Given the description of an element on the screen output the (x, y) to click on. 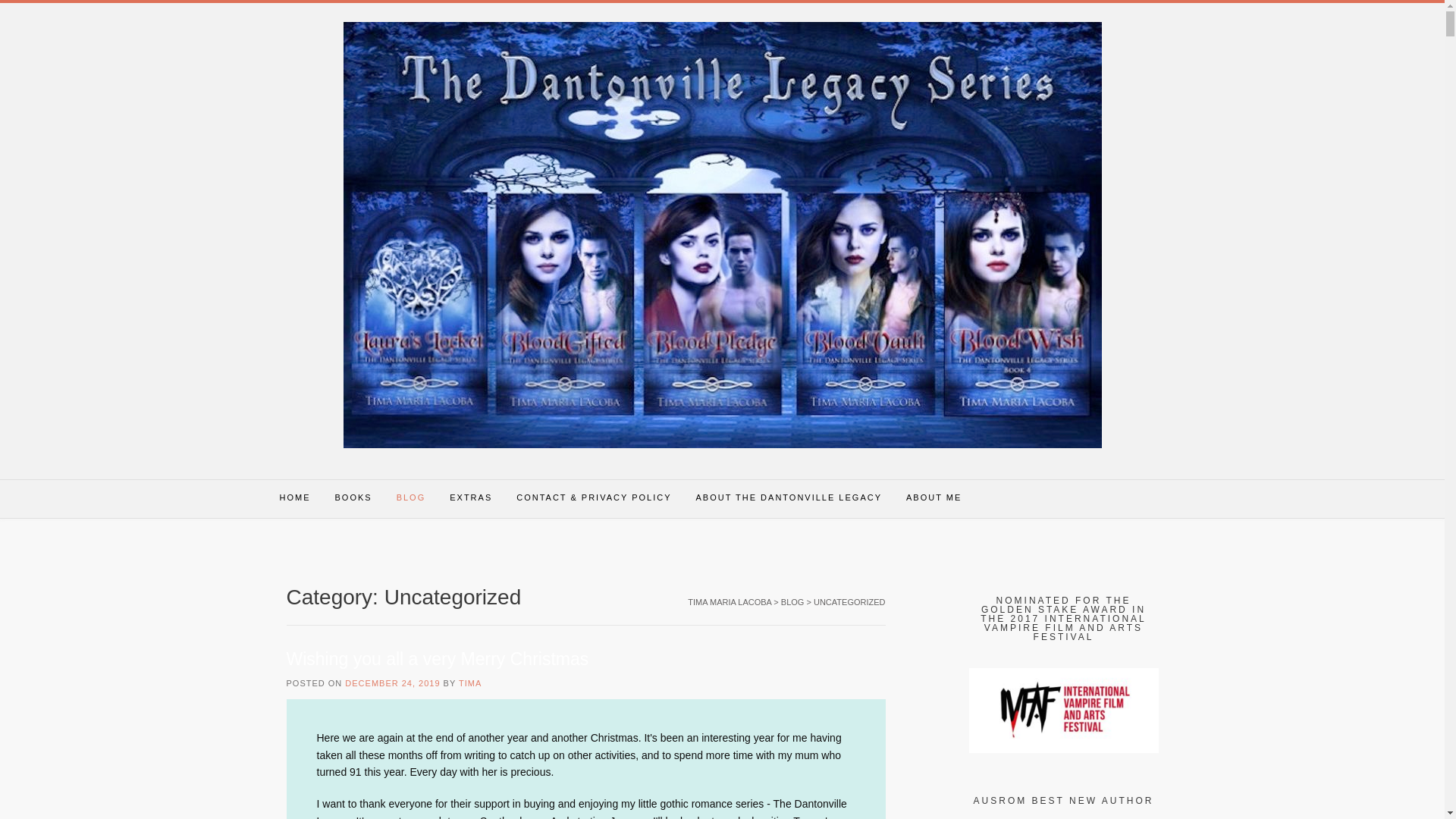
Go to Tima Maria Lacoba. (729, 601)
DECEMBER 24, 2019 (392, 682)
ABOUT THE DANTONVILLE LEGACY (789, 498)
TIMA MARIA LACOBA (729, 601)
EXTRAS (470, 498)
BLOG (792, 601)
BLOG (411, 498)
ABOUT ME (933, 498)
TIMA (469, 682)
Wishing you all a very Merry Christmas (437, 659)
HOME (293, 498)
Go to Blog. (792, 601)
BOOKS (353, 498)
